Given the description of an element on the screen output the (x, y) to click on. 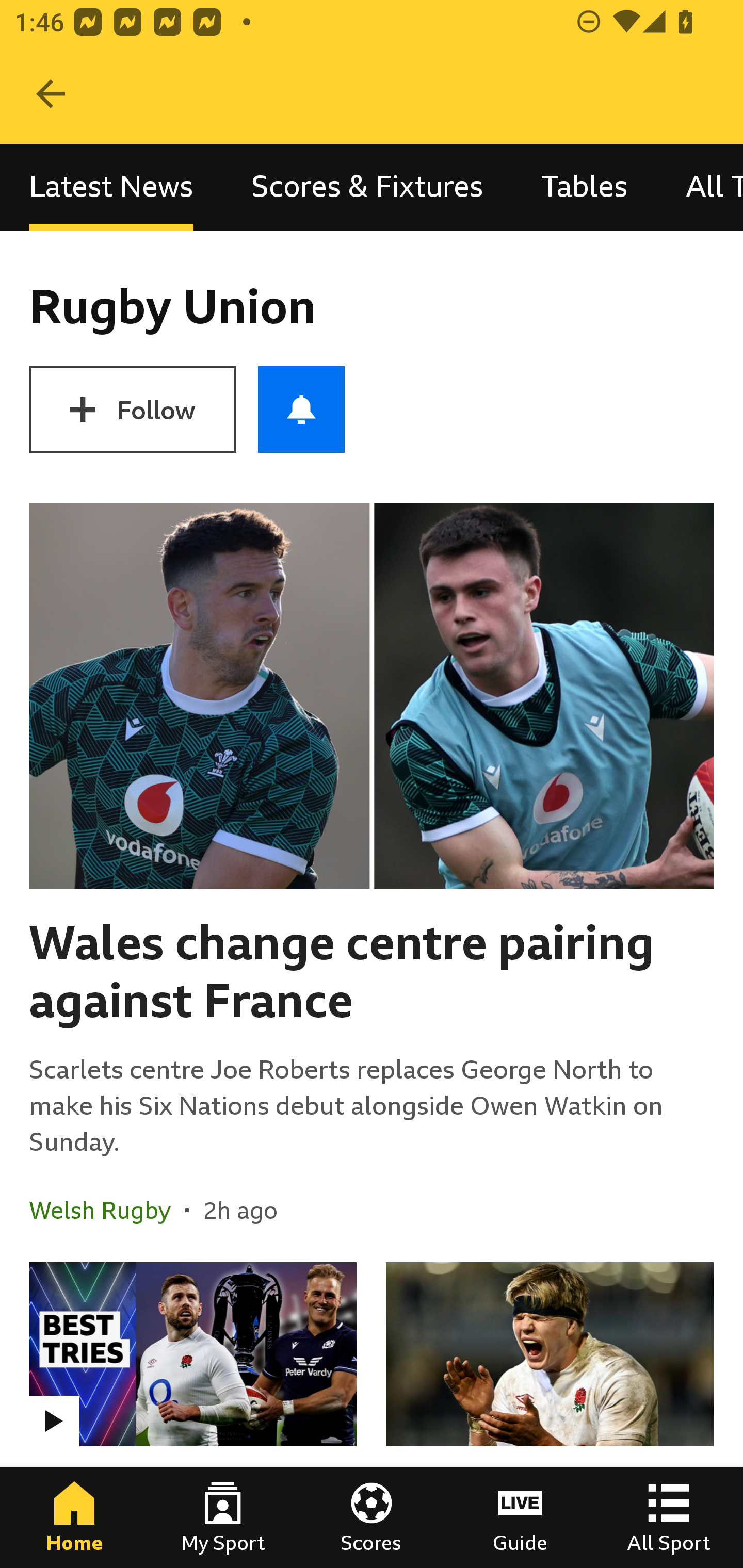
Navigate up (50, 93)
Latest News, selected Latest News (111, 187)
Scores & Fixtures (367, 187)
Tables (584, 187)
All Teams (699, 187)
Follow Rugby Union Follow (132, 409)
Push notifications for Rugby Union (300, 409)
Welsh Rugby In the section Welsh Rugby (106, 1209)
Watch Watch best tries of Six Nations so far (192, 1415)
My Sport (222, 1517)
Scores (371, 1517)
Guide (519, 1517)
All Sport (668, 1517)
